Given the description of an element on the screen output the (x, y) to click on. 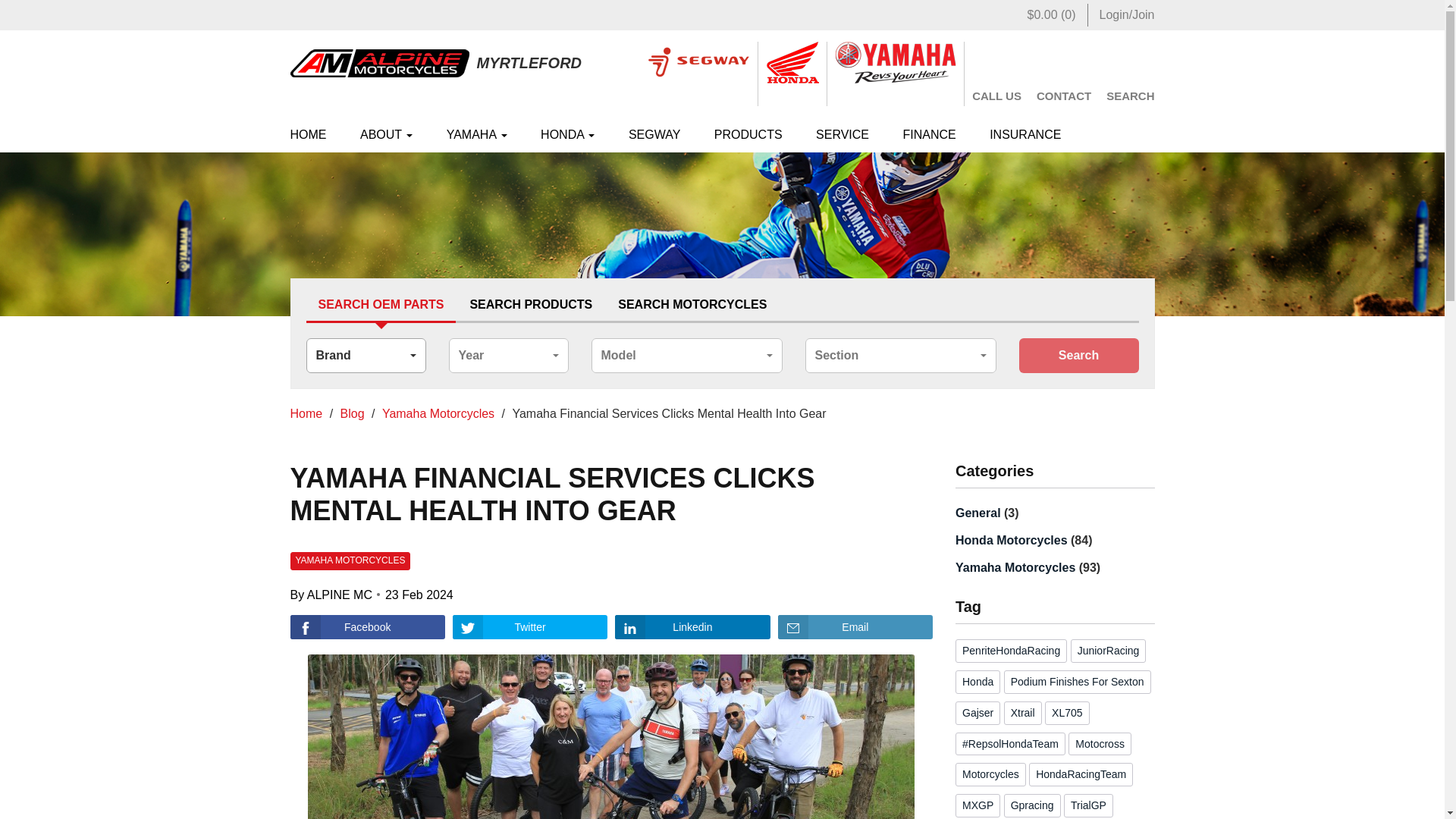
Yamaha Financial Services Clicks Mental Health Into Gear (366, 627)
Model (687, 355)
Brand (365, 355)
ABOUT (386, 134)
Year (508, 355)
HOME (314, 134)
Section (900, 355)
